Given the description of an element on the screen output the (x, y) to click on. 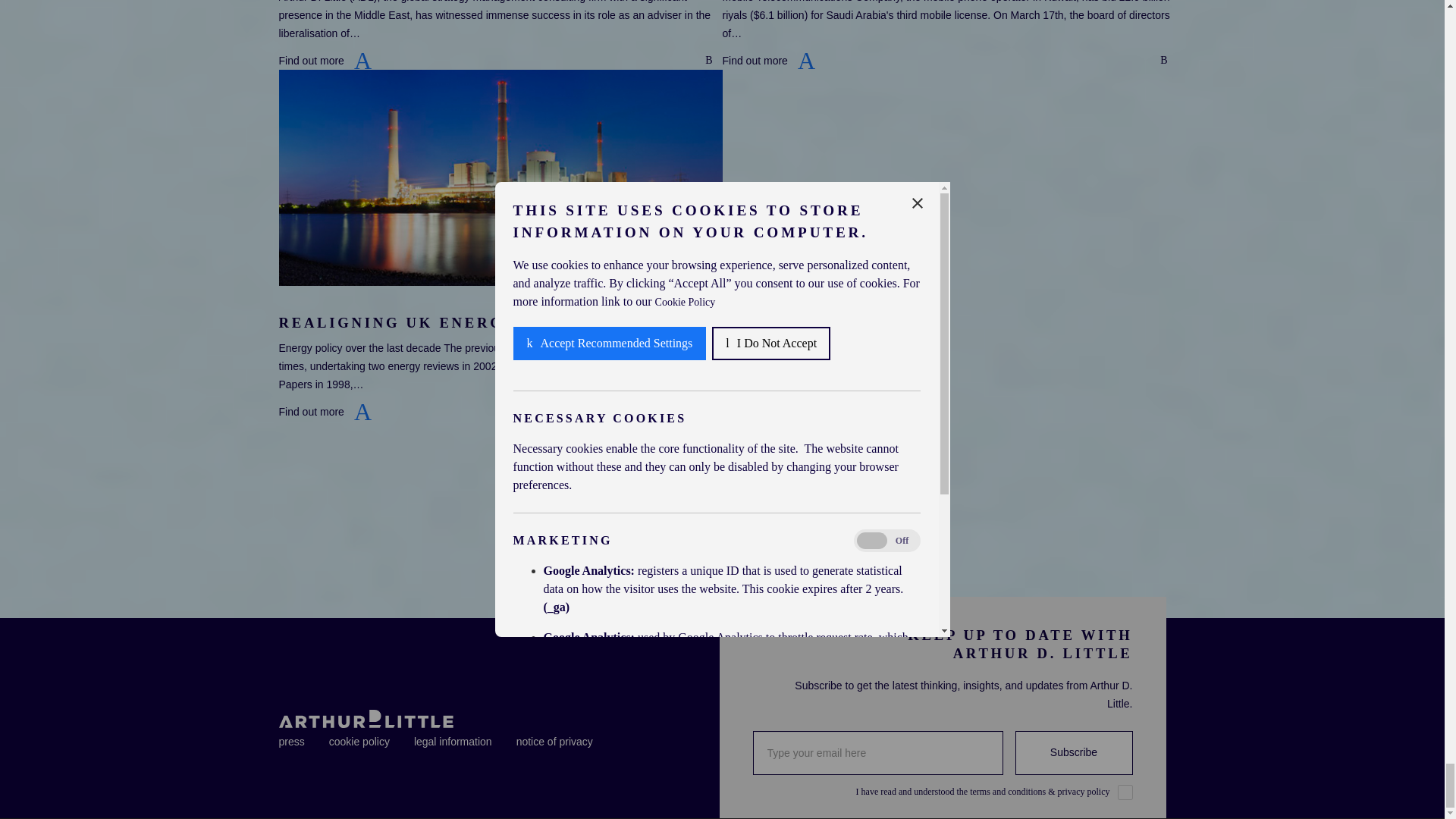
1 (1125, 792)
